Given the description of an element on the screen output the (x, y) to click on. 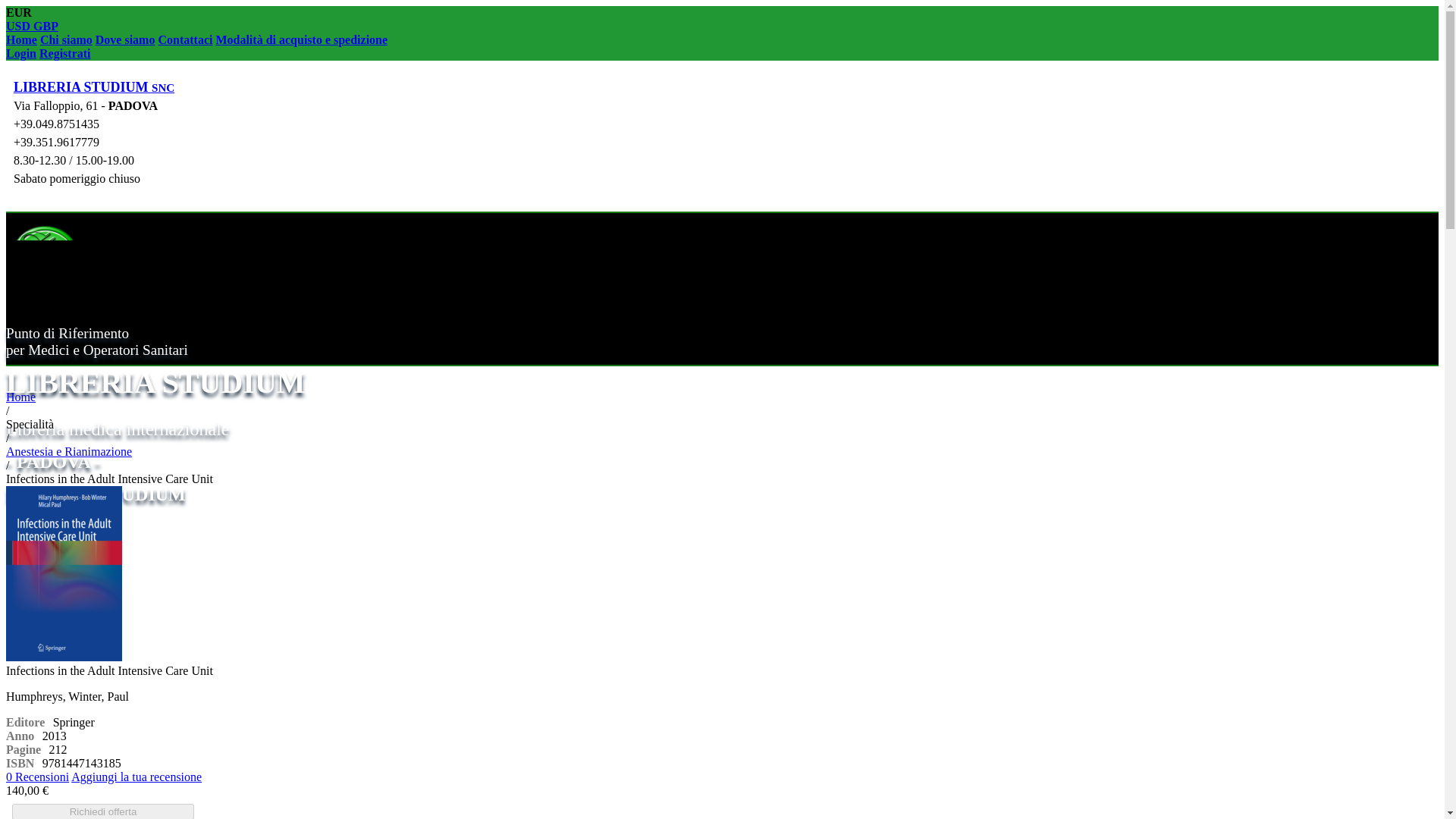
Home (21, 39)
0 Recensioni (36, 776)
USD (19, 25)
Richiedi offerta (102, 811)
Chi siamo (66, 39)
Contattaci (184, 39)
Registrati (64, 52)
Login (20, 52)
Anestesia e Rianimazione (68, 451)
Home (19, 396)
Ricerca Libro (41, 539)
GBP (45, 25)
LIBRERIA STUDIUM SNC (93, 87)
Dove siamo (125, 39)
Aggiungi la tua recensione (136, 776)
